Given the description of an element on the screen output the (x, y) to click on. 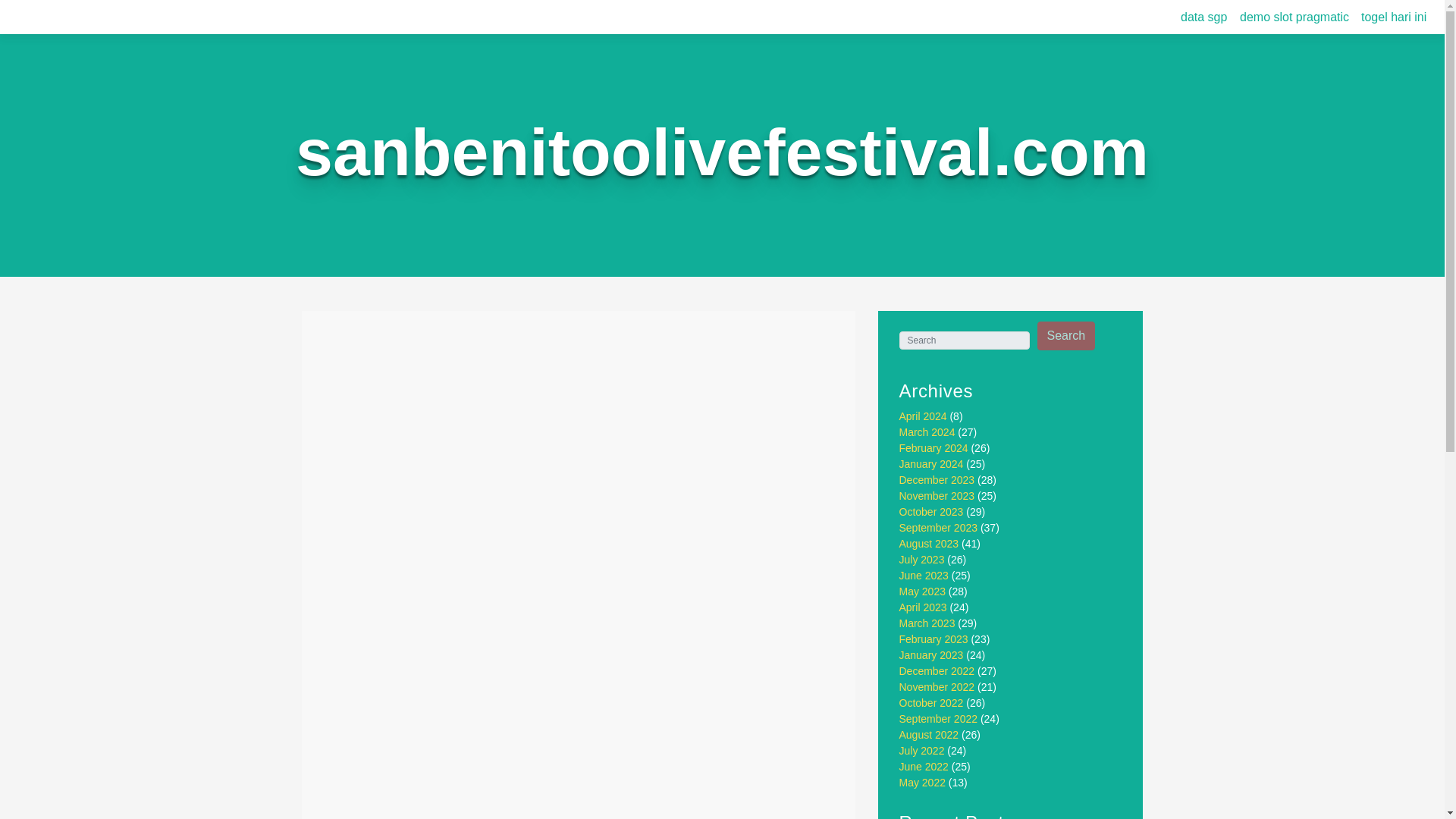
September 2022 (938, 718)
June 2022 (924, 766)
togel hari ini (1393, 16)
April 2024 (923, 416)
demo slot pragmatic (1294, 16)
admin (490, 386)
November 2023 (937, 495)
March 2023 (927, 623)
data sgp (1203, 16)
July 23, 2023 (417, 386)
